Given the description of an element on the screen output the (x, y) to click on. 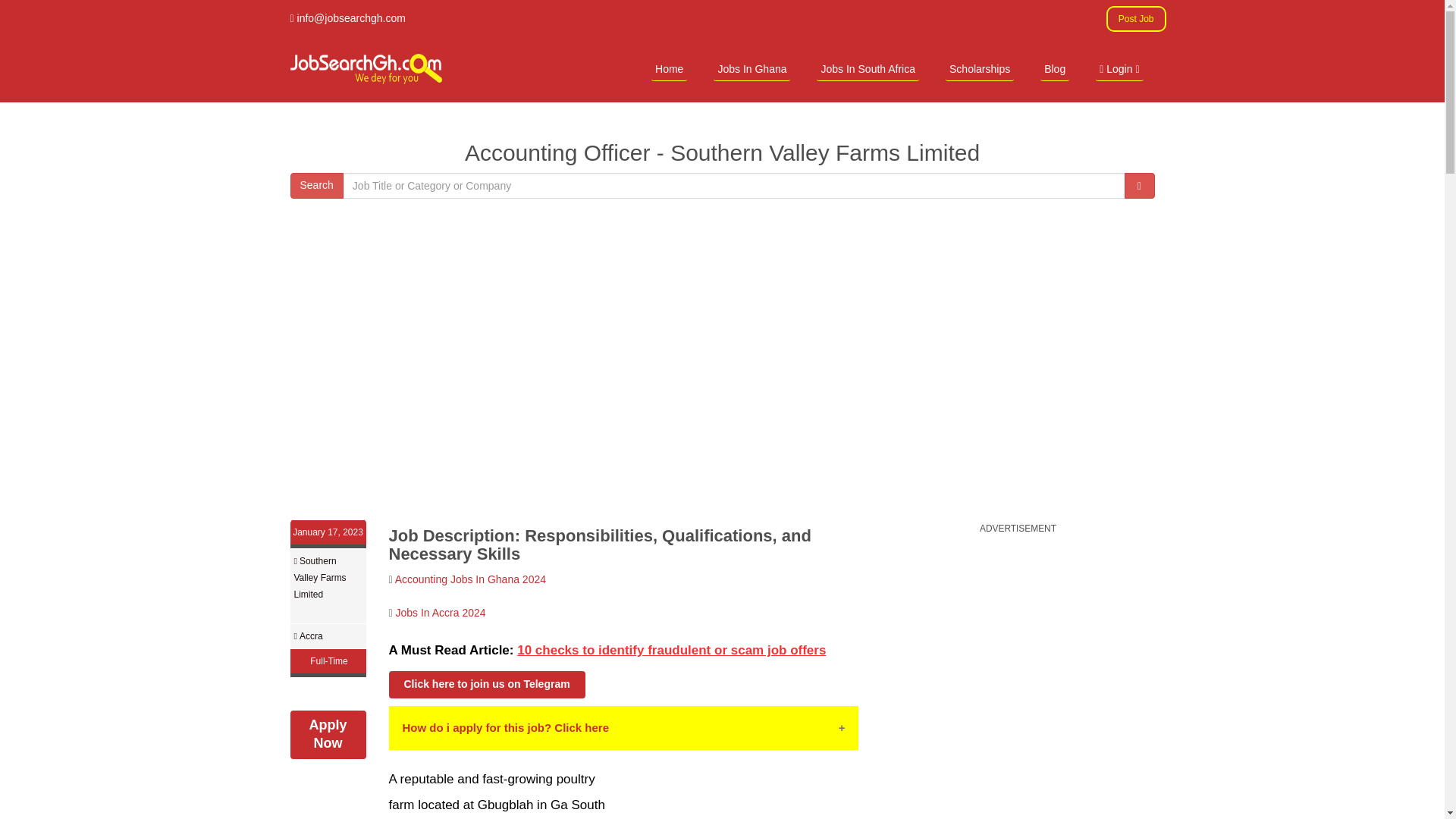
10 checks to identify fraudulent or scam job offers (670, 649)
Post Job (1136, 18)
Click here to join us on Telegram (486, 684)
scholarships for african students (978, 69)
Home (668, 69)
Blog (1054, 69)
Accounting Jobs In Ghana 2024 (470, 579)
Post Job (1136, 18)
Southern Valley Farms Limited (320, 577)
Jobs In Accra 2024 (441, 612)
Current Jobs In Ghana (751, 69)
Search (315, 185)
Accra (311, 635)
Home (668, 69)
